Given the description of an element on the screen output the (x, y) to click on. 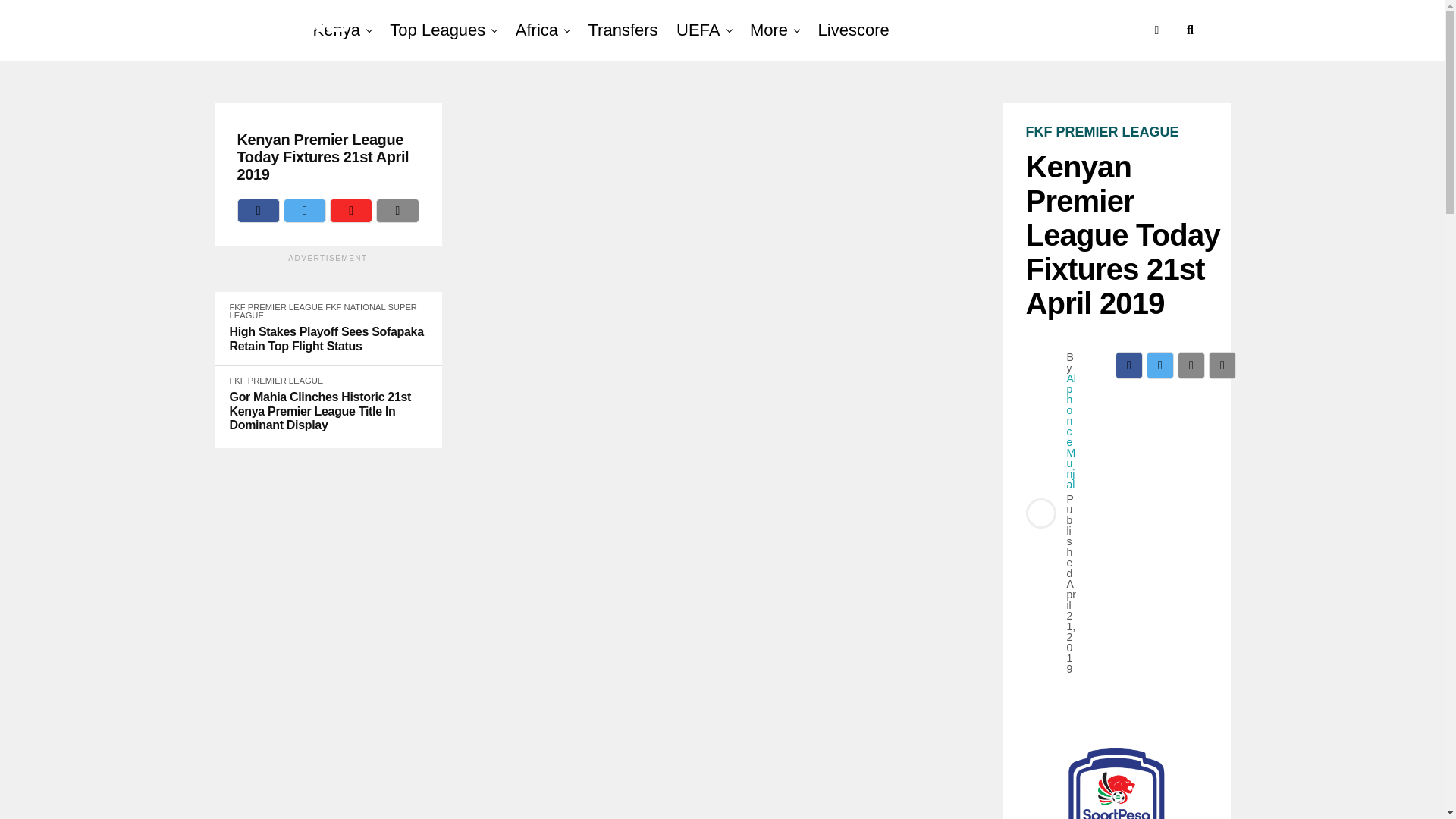
Share on Facebook (257, 210)
Share on Flipboard (351, 210)
Tweet This Post (304, 210)
